Given the description of an element on the screen output the (x, y) to click on. 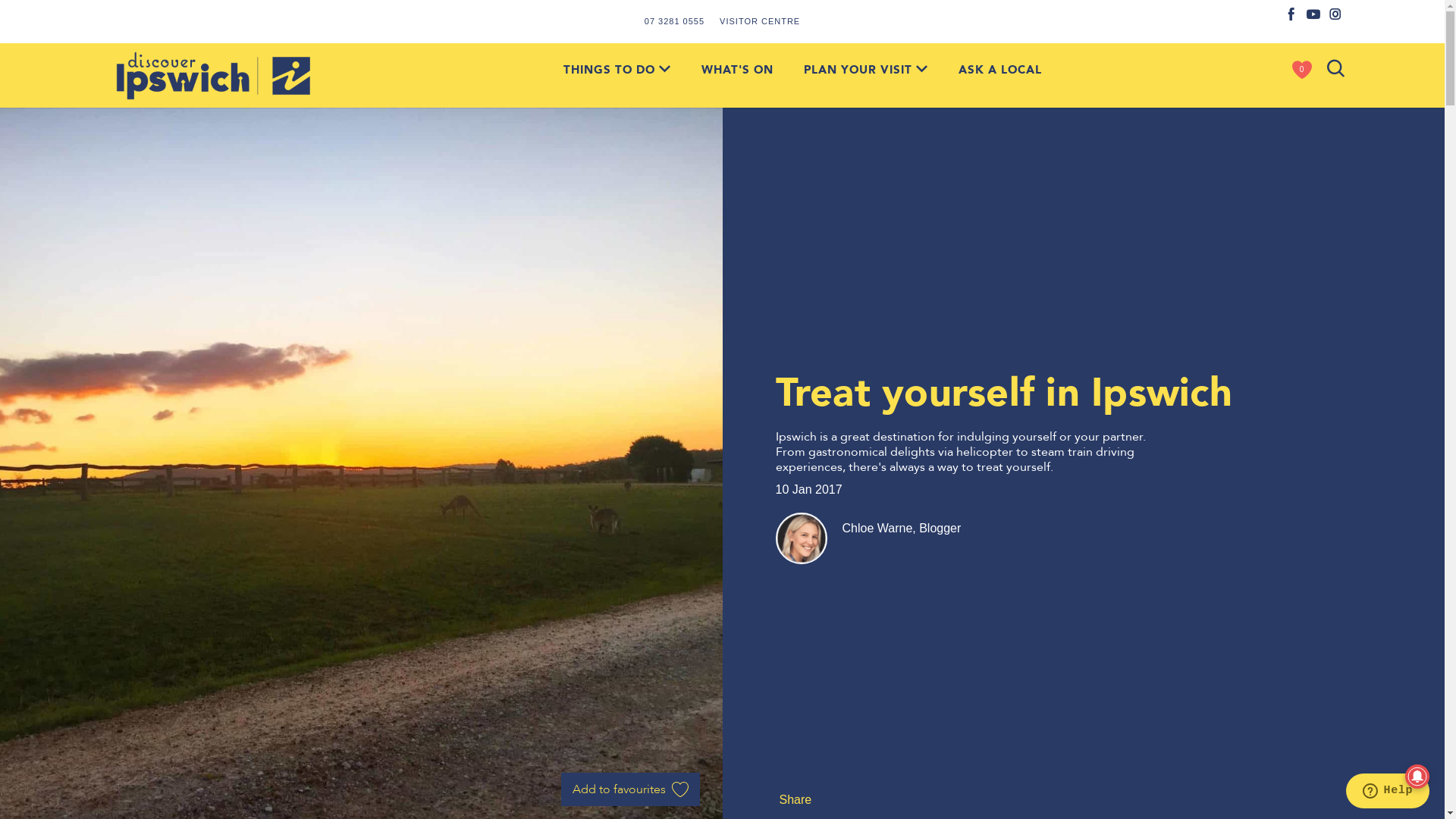
Follow us on YouTube Element type: hover (1313, 15)
ASK A LOCAL Element type: text (999, 69)
THINGS TO DO Element type: text (616, 69)
Add to favourites Element type: text (630, 789)
Like us on Facebook Element type: hover (1292, 15)
Discover Ipswich Element type: hover (213, 75)
Follow us on Instagram Element type: hover (1336, 15)
0 Element type: text (1301, 69)
07 3281 0555 Element type: text (674, 21)
Opens a widget where you can chat to one of our agents Element type: hover (1387, 792)
Share Element type: text (793, 799)
WHAT'S ON Element type: text (736, 69)
VISITOR CENTRE Element type: text (759, 21)
PLAN YOUR VISIT Element type: text (865, 69)
